Given the description of an element on the screen output the (x, y) to click on. 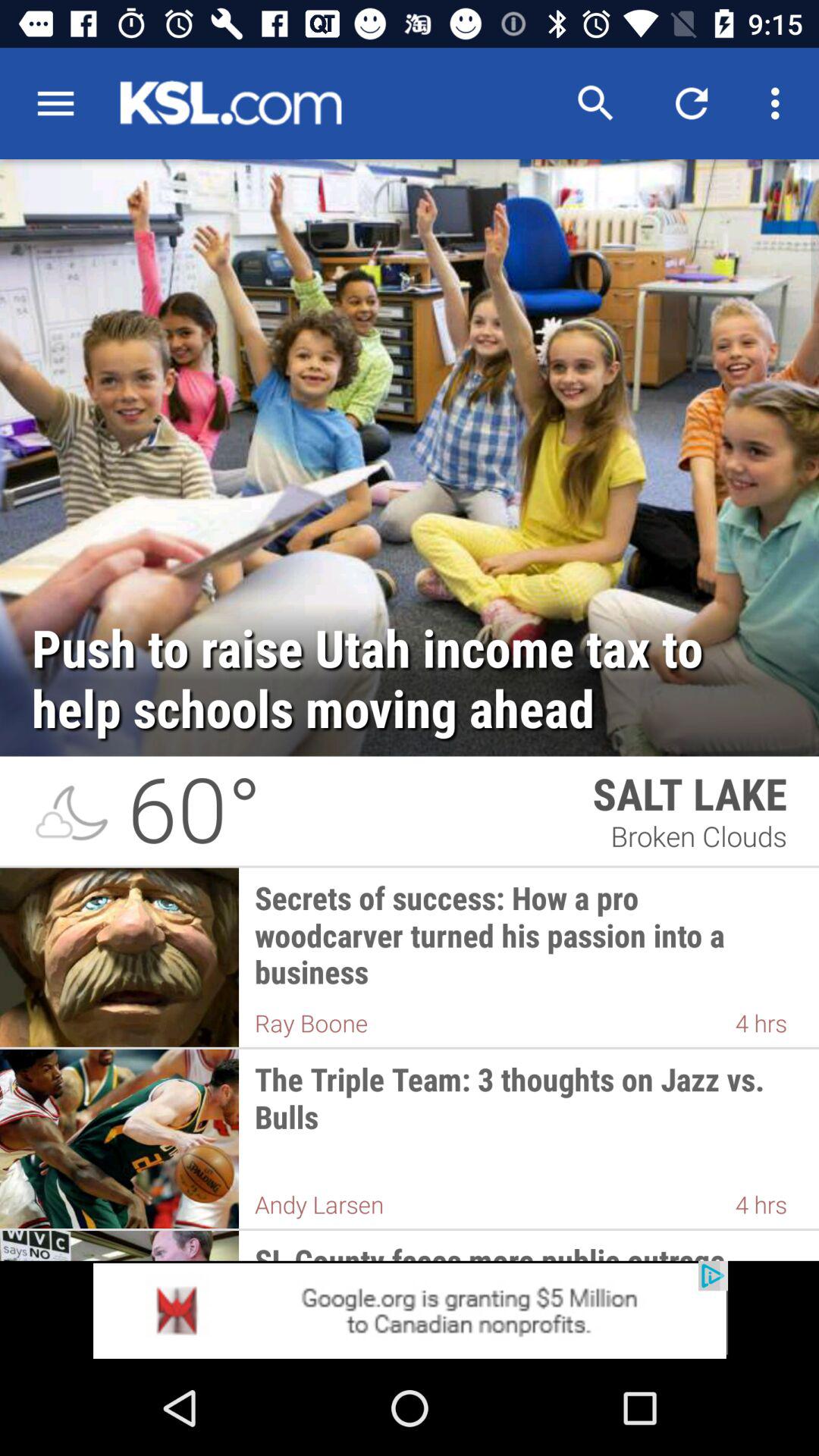
go to the advertising website (409, 1310)
